Given the description of an element on the screen output the (x, y) to click on. 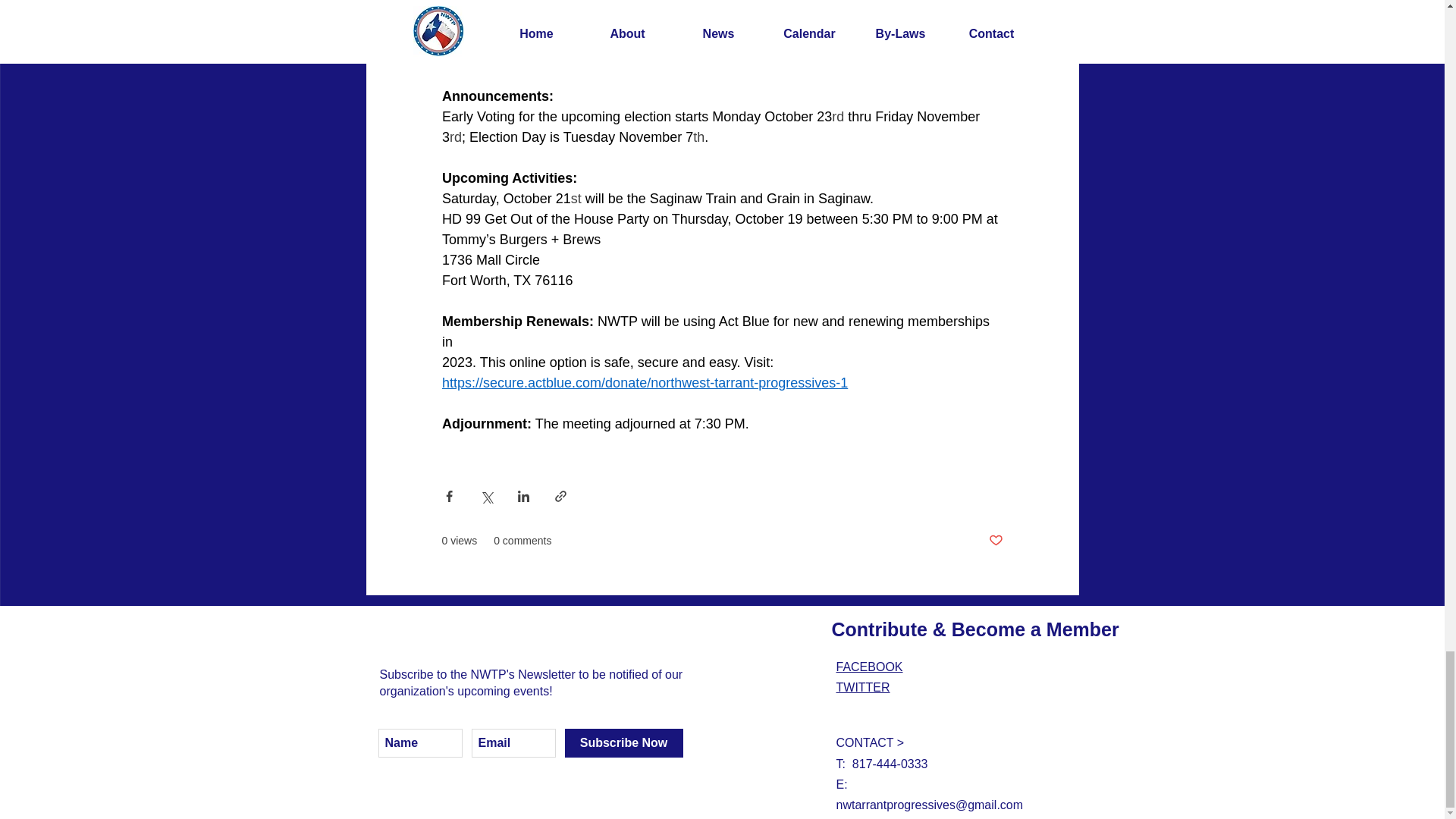
0 comments (522, 540)
Post not marked as liked (995, 540)
